Given the description of an element on the screen output the (x, y) to click on. 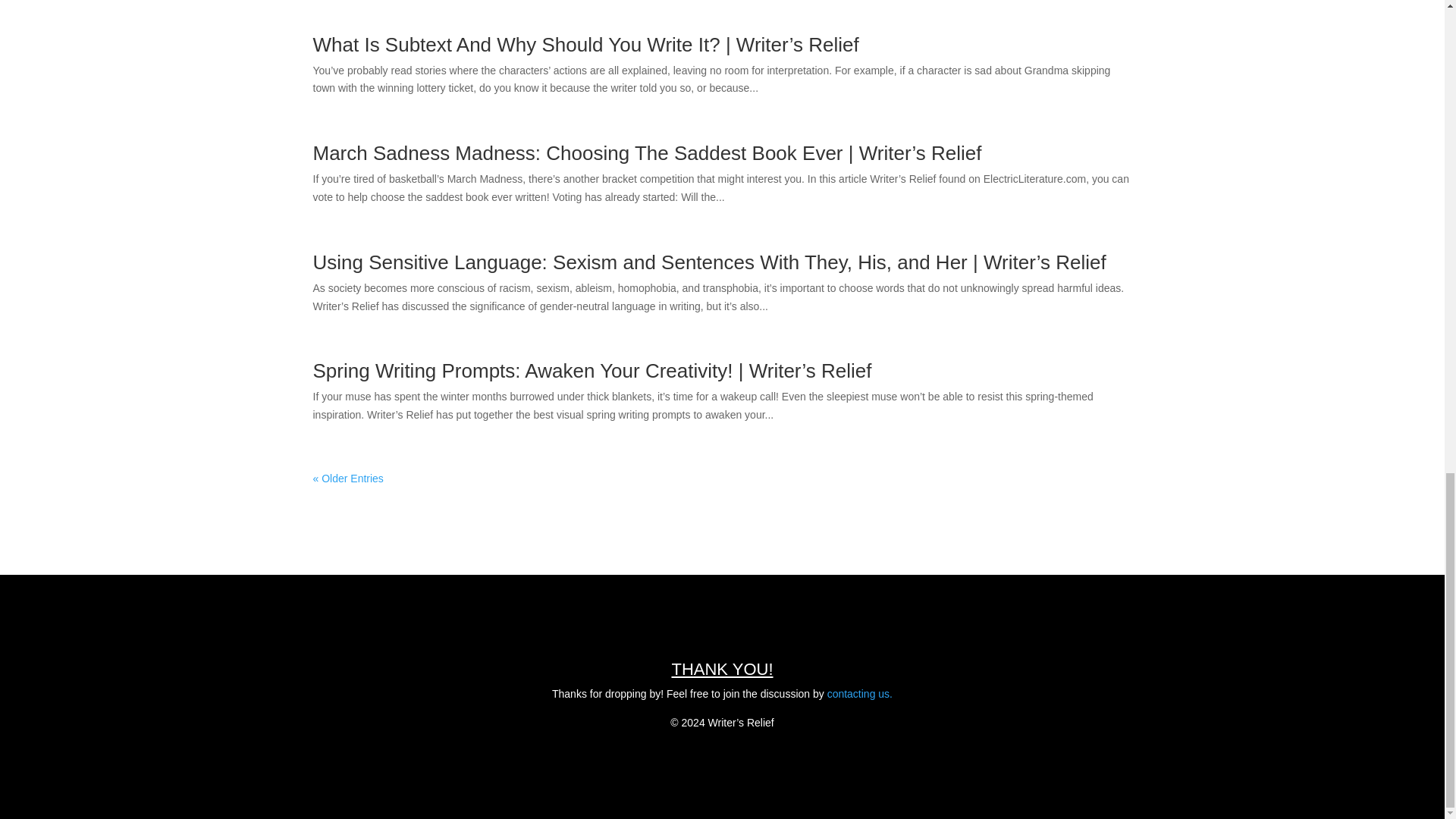
contacting us. (859, 693)
